Given the description of an element on the screen output the (x, y) to click on. 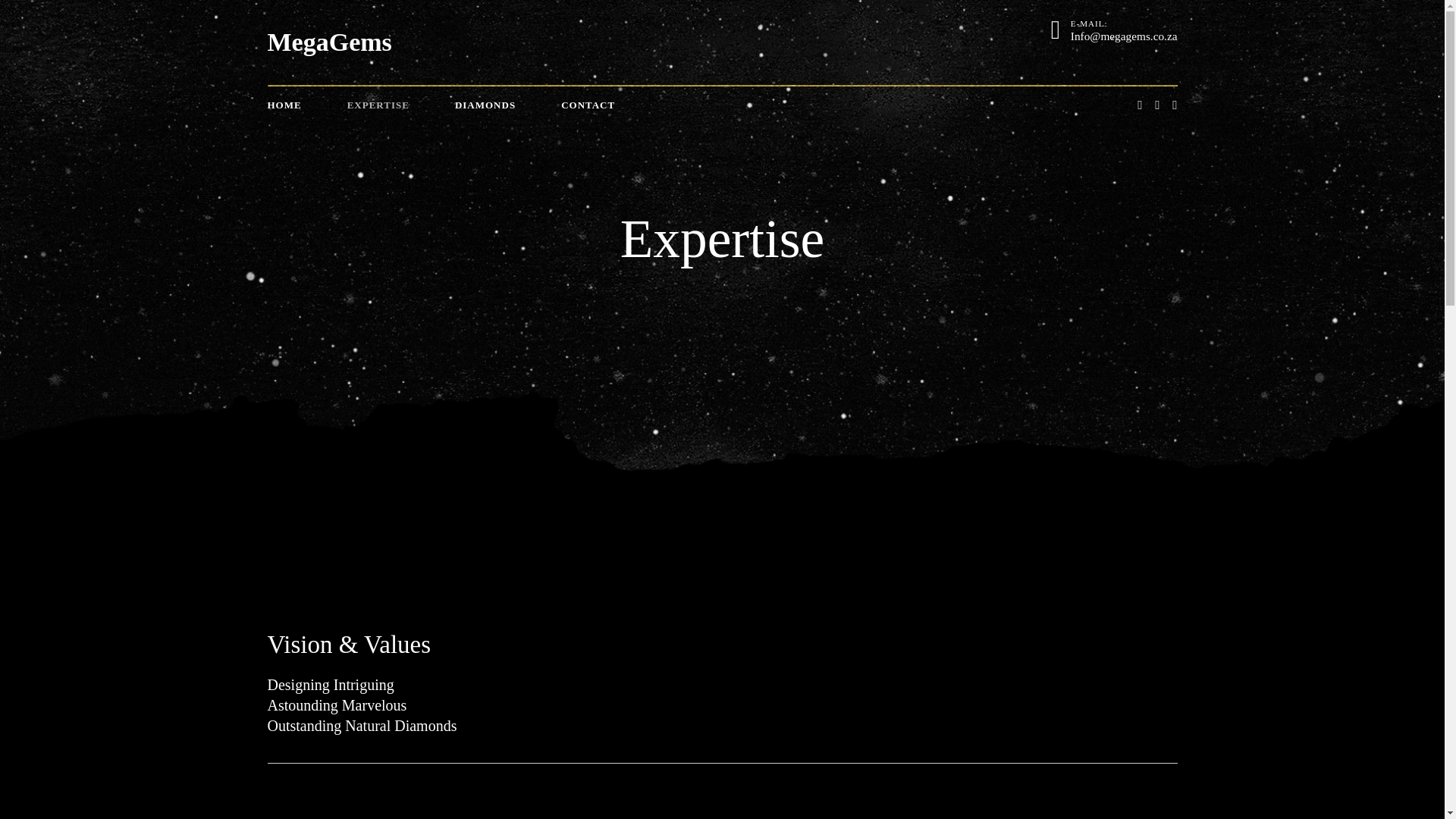
EXPERTISE (378, 105)
CONTACT (587, 105)
MegaGems (328, 41)
HOME (283, 105)
DIAMONDS (484, 105)
